Given the description of an element on the screen output the (x, y) to click on. 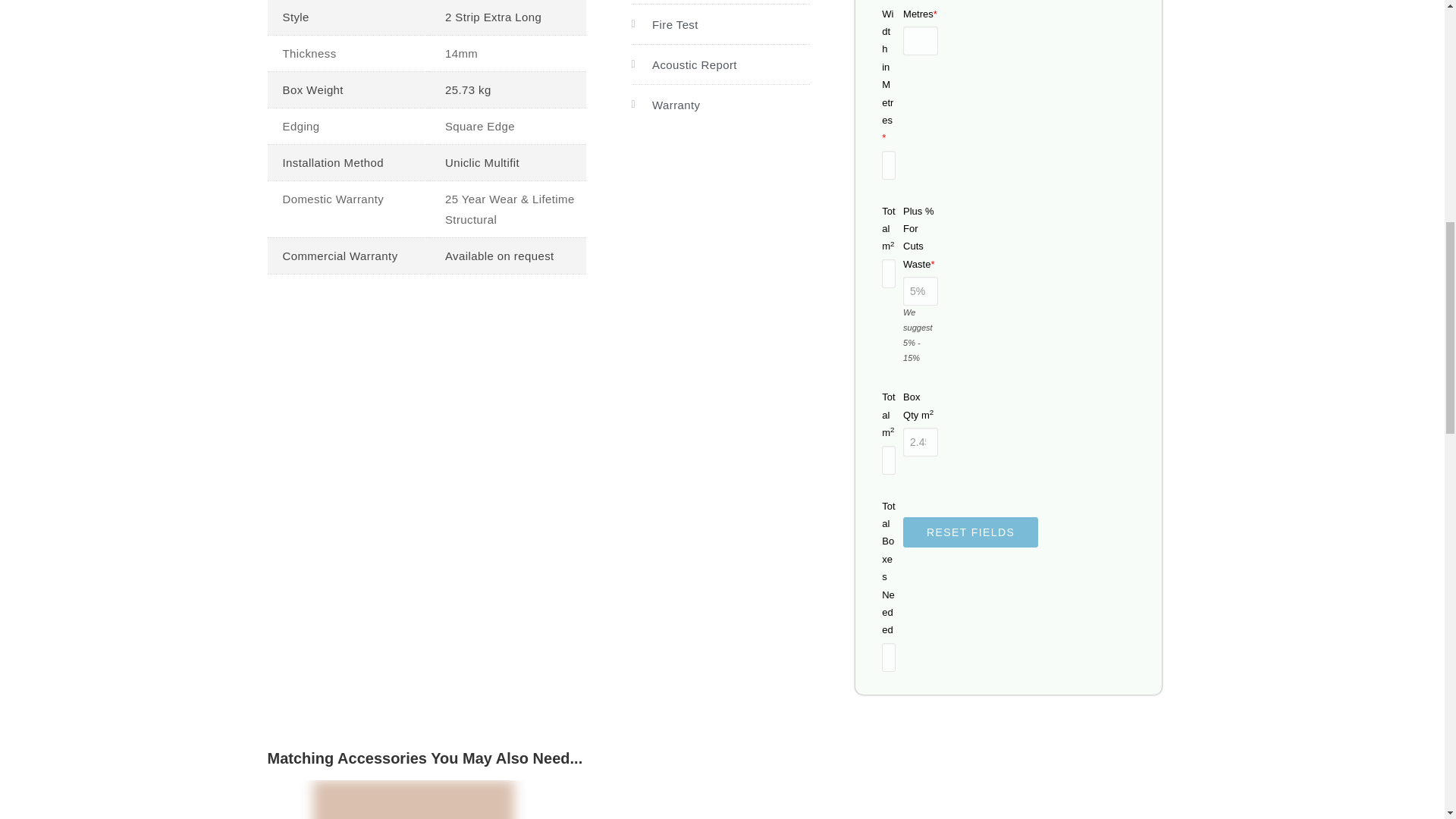
2.455 (919, 441)
RESET FIELDS (970, 531)
